Given the description of an element on the screen output the (x, y) to click on. 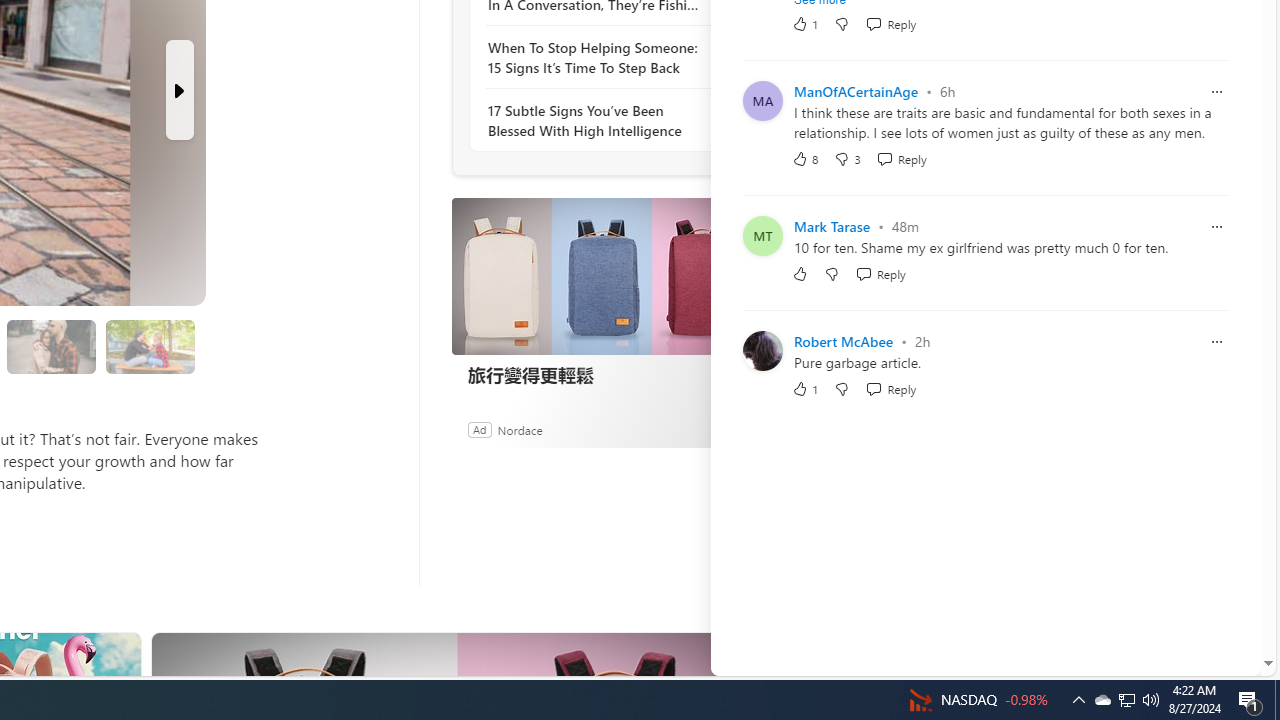
Next Slide (179, 89)
Ad (479, 429)
See more (741, 656)
Ad Choice (729, 429)
8 Like (804, 158)
Like (799, 272)
Mark Tarase (831, 226)
